Given the description of an element on the screen output the (x, y) to click on. 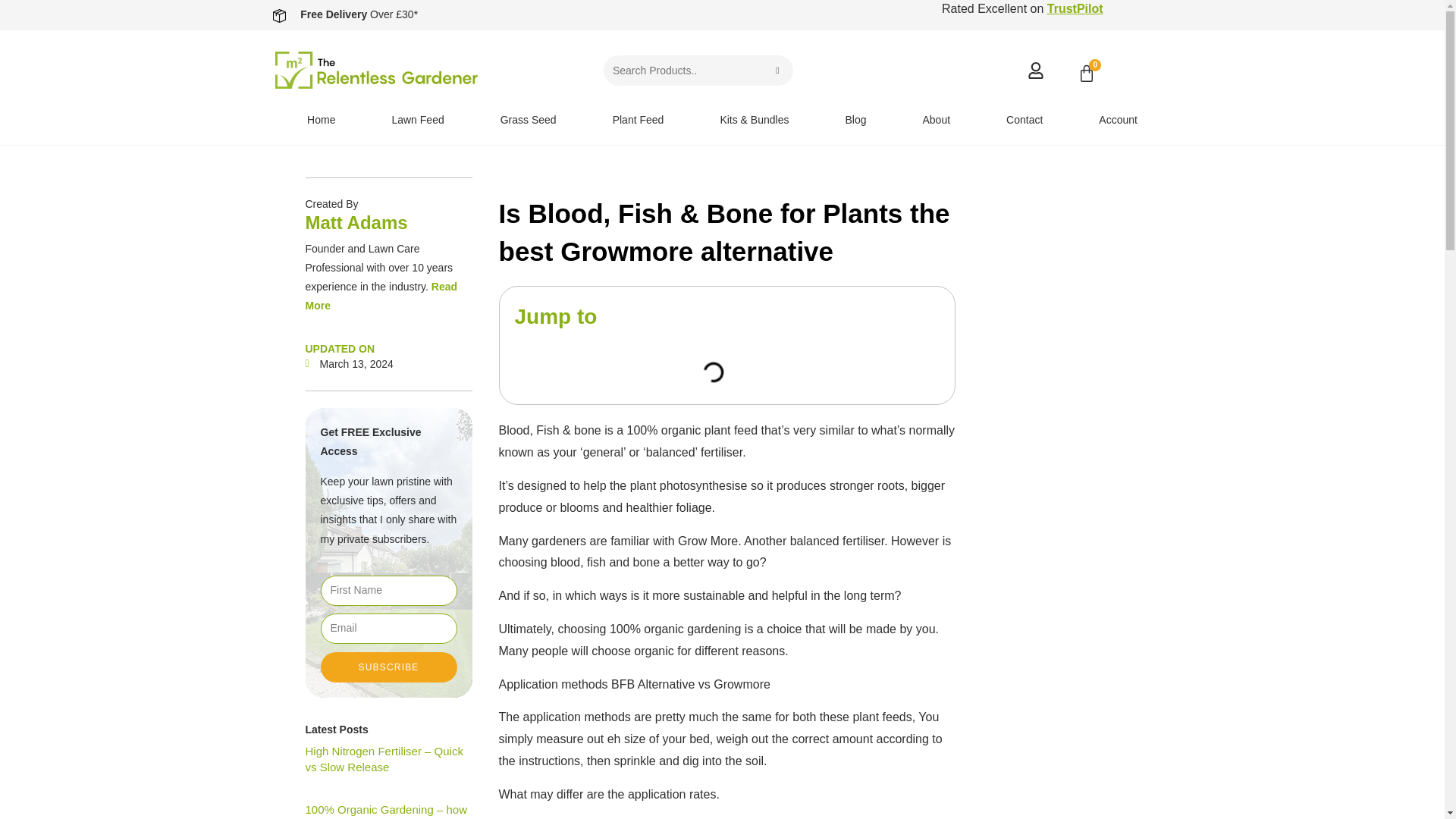
Grass Seed (528, 119)
0 (1086, 75)
Home (321, 119)
Account (1118, 119)
TrustPilot (1074, 8)
About (936, 119)
Lawn Feed (416, 119)
Blog (854, 119)
Contact (1024, 119)
Plant Feed (638, 119)
